Given the description of an element on the screen output the (x, y) to click on. 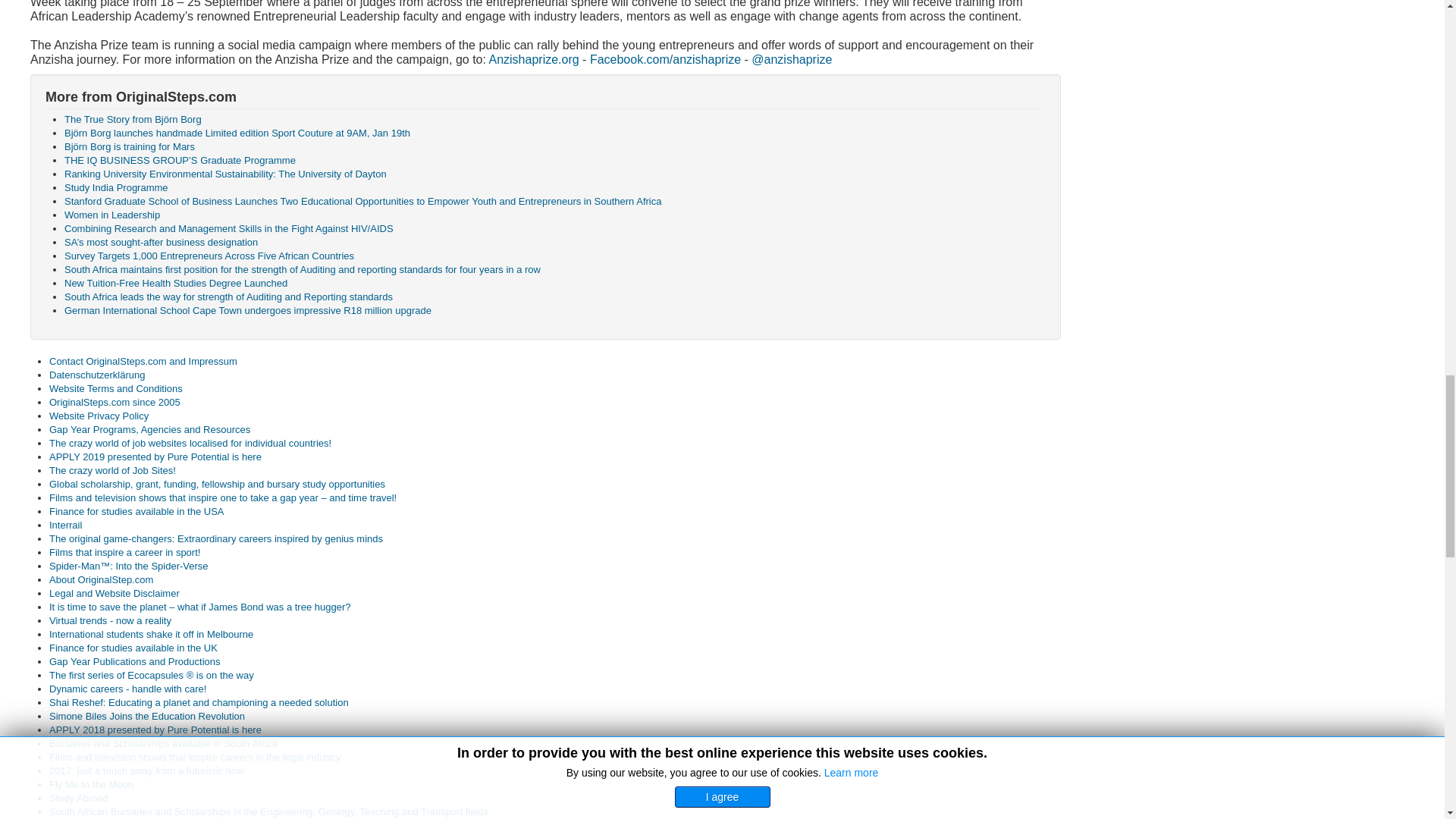
APPLY 2019 presented by Pure Potential is here (155, 456)
The crazy world of Job Sites! (112, 470)
Gap Year Programs, Agencies and Resources (149, 429)
Contact OriginalSteps.com and Impressum (143, 360)
Website Terms and Conditions (116, 388)
New Tuition-Free Health Studies Degree Launched (175, 283)
Study India Programme (116, 187)
Website Privacy Policy (98, 415)
